Given the description of an element on the screen output the (x, y) to click on. 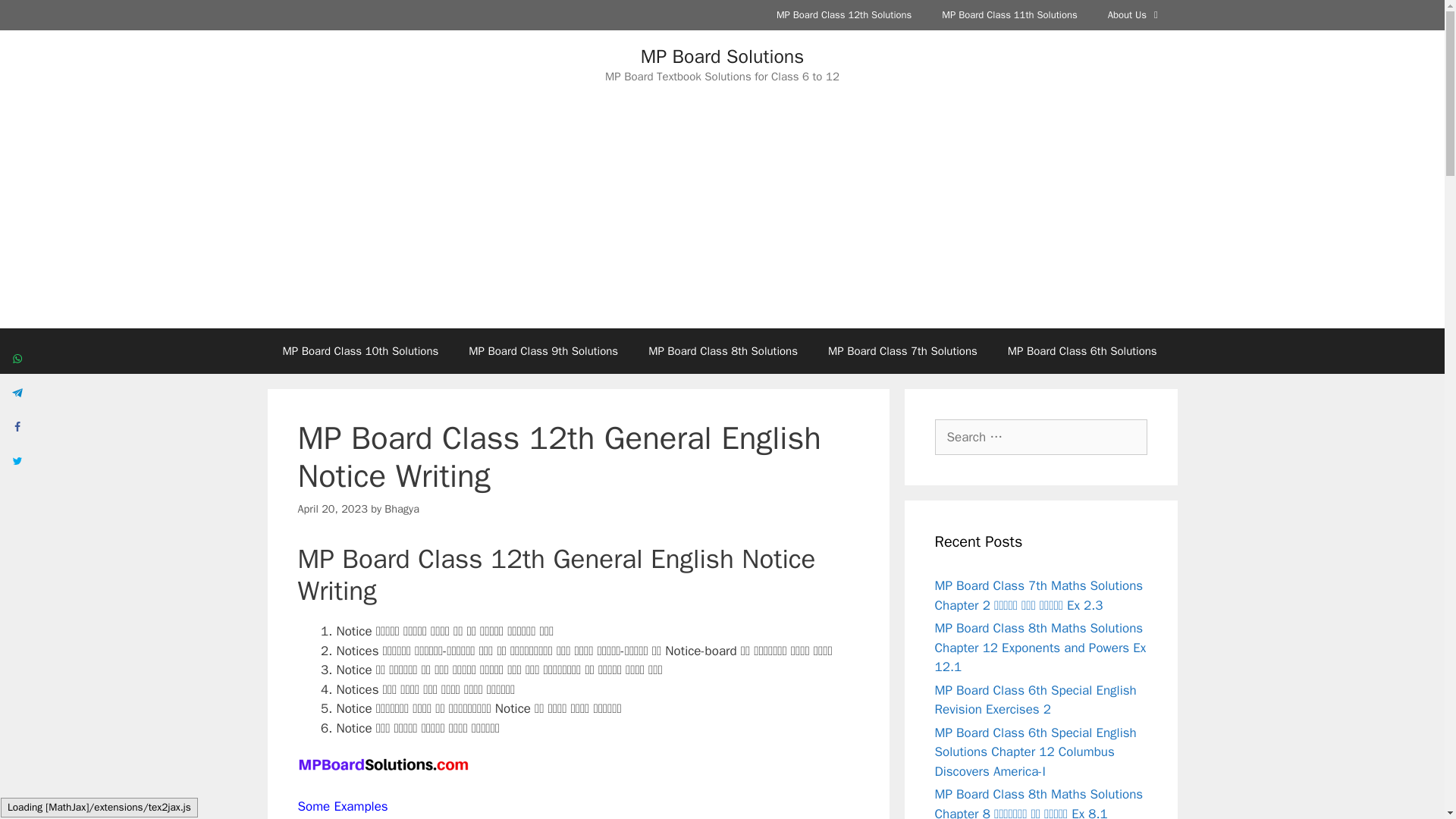
Share on Facebook (16, 426)
About Us (1135, 15)
MP Board Class 10th Solutions (359, 350)
MP Board Class 6th Solutions (1082, 350)
MP Board Class 9th Solutions (542, 350)
MP Board Class 11th Solutions (1009, 15)
MP Board Class 7th Solutions (902, 350)
Search (35, 18)
View all posts by Bhagya (401, 508)
Share on Telegram (16, 392)
Search for: (1040, 436)
MP Board Class 12th Solutions (843, 15)
Share on WhatsApp (16, 358)
